Given the description of an element on the screen output the (x, y) to click on. 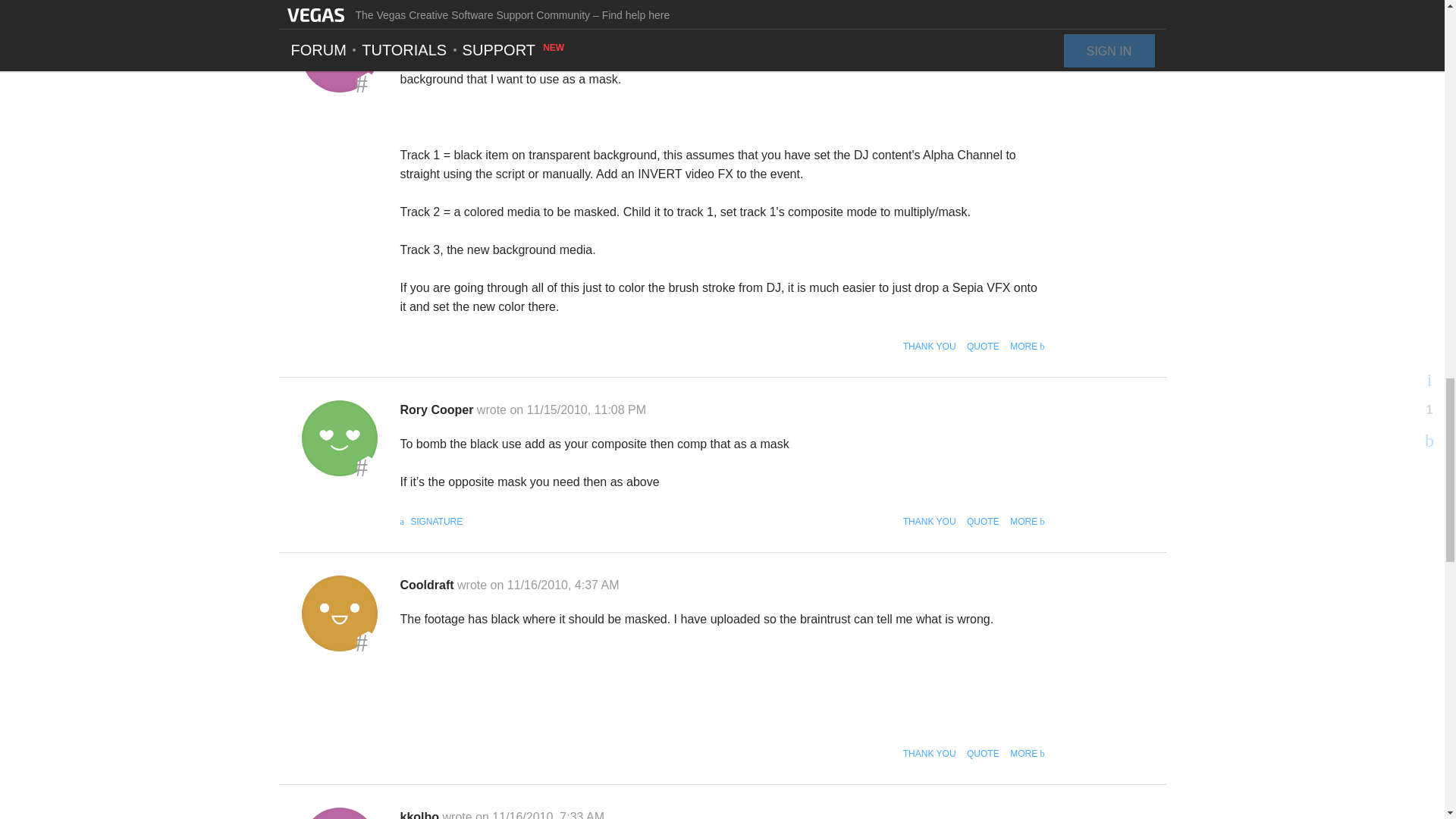
kkolbo (339, 813)
kkolbo (339, 54)
Cooldraft (339, 613)
Rory Cooper (339, 437)
